Given the description of an element on the screen output the (x, y) to click on. 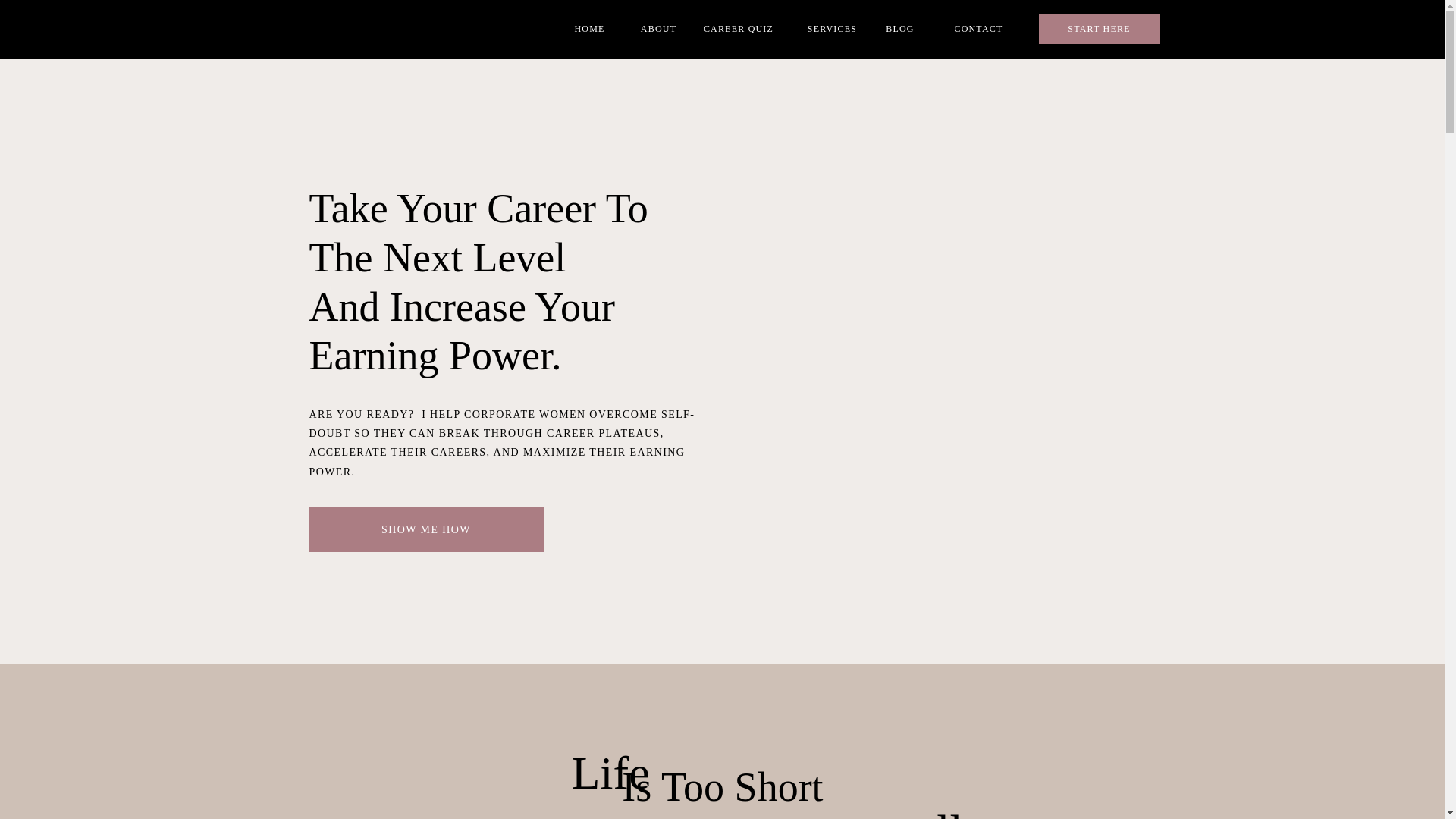
SERVICES (831, 30)
SHOW ME HOW (425, 527)
CAREER QUIZ (738, 30)
HOME (590, 30)
BLOG (899, 30)
ABOUT (658, 30)
CONTACT (979, 30)
START HERE (1099, 30)
